Given the description of an element on the screen output the (x, y) to click on. 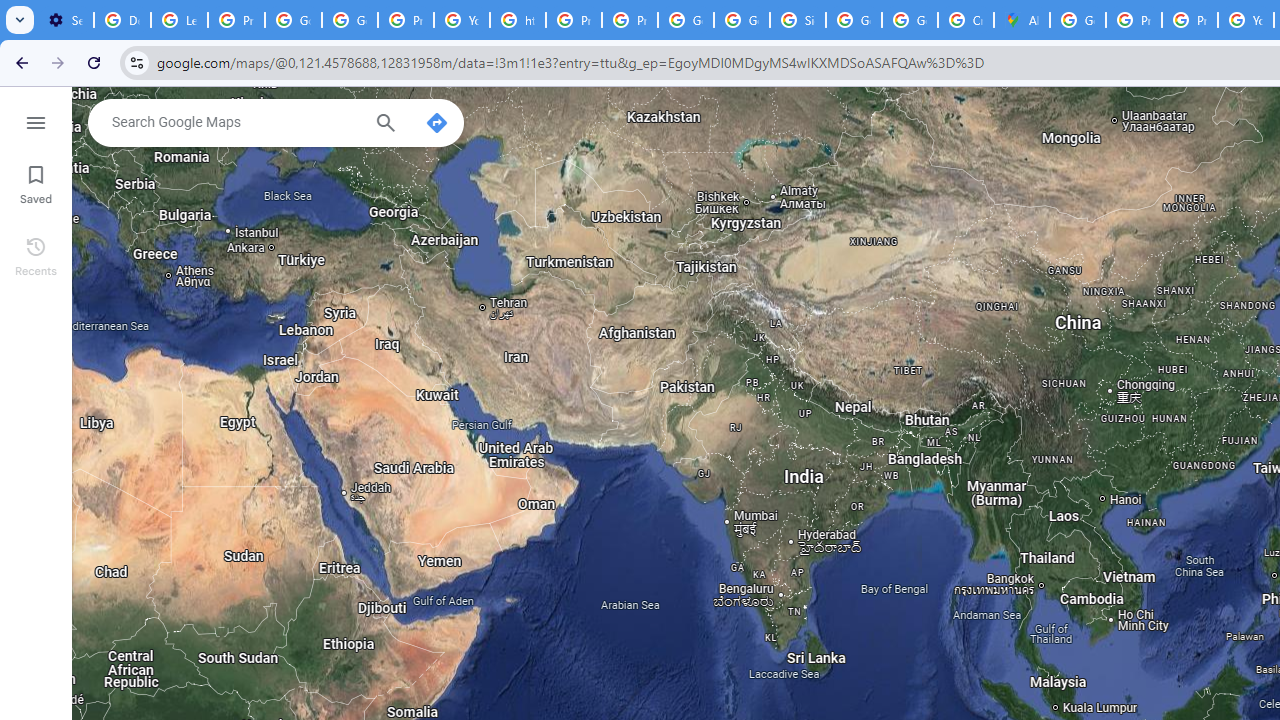
Recents (35, 254)
